Given the description of an element on the screen output the (x, y) to click on. 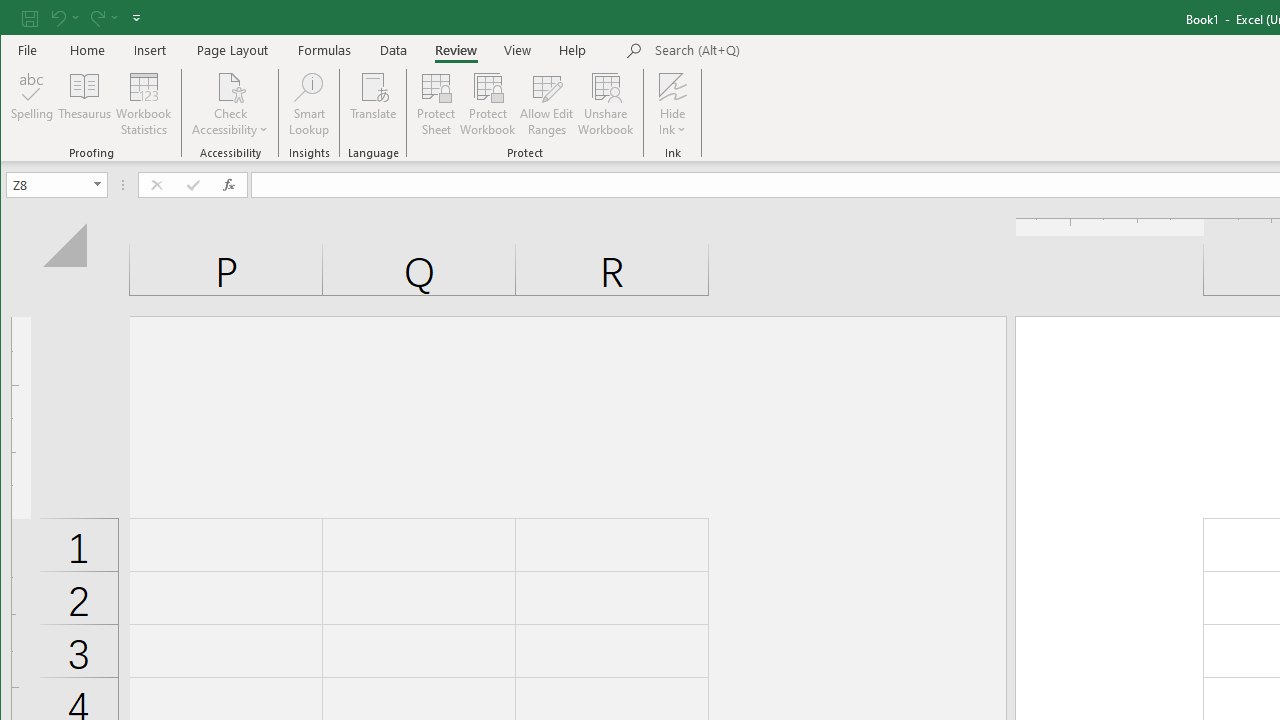
Spelling... (32, 104)
Translate (373, 104)
